Given the description of an element on the screen output the (x, y) to click on. 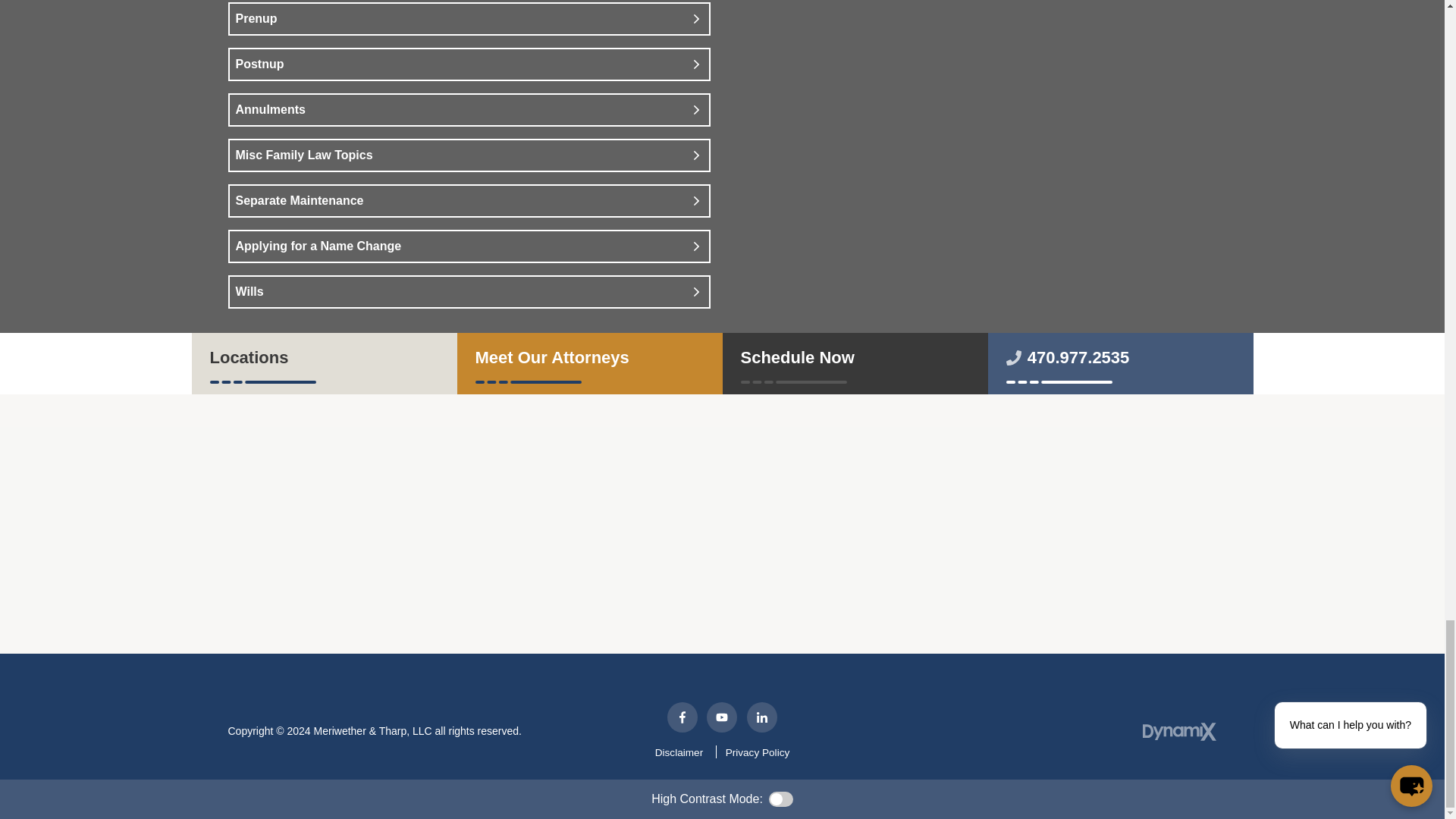
YouTube (721, 716)
Facebook (681, 716)
LinkedIn (761, 716)
